Given the description of an element on the screen output the (x, y) to click on. 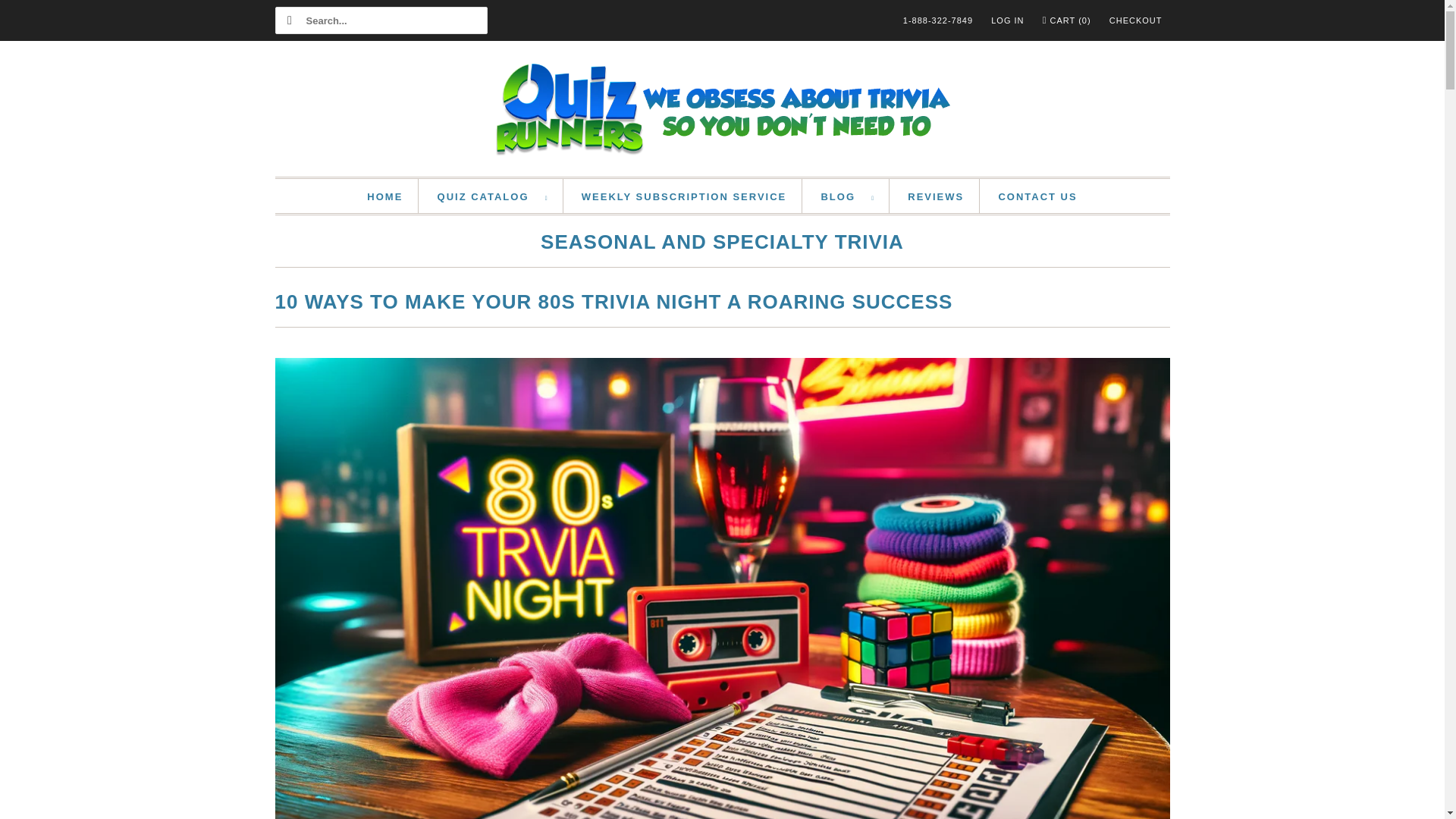
LOG IN (1007, 20)
CHECKOUT (1135, 20)
Seasonal and Specialty Trivia (722, 244)
HOME (384, 196)
1-888-322-7849 (937, 20)
QuizRunners (722, 112)
